Given the description of an element on the screen output the (x, y) to click on. 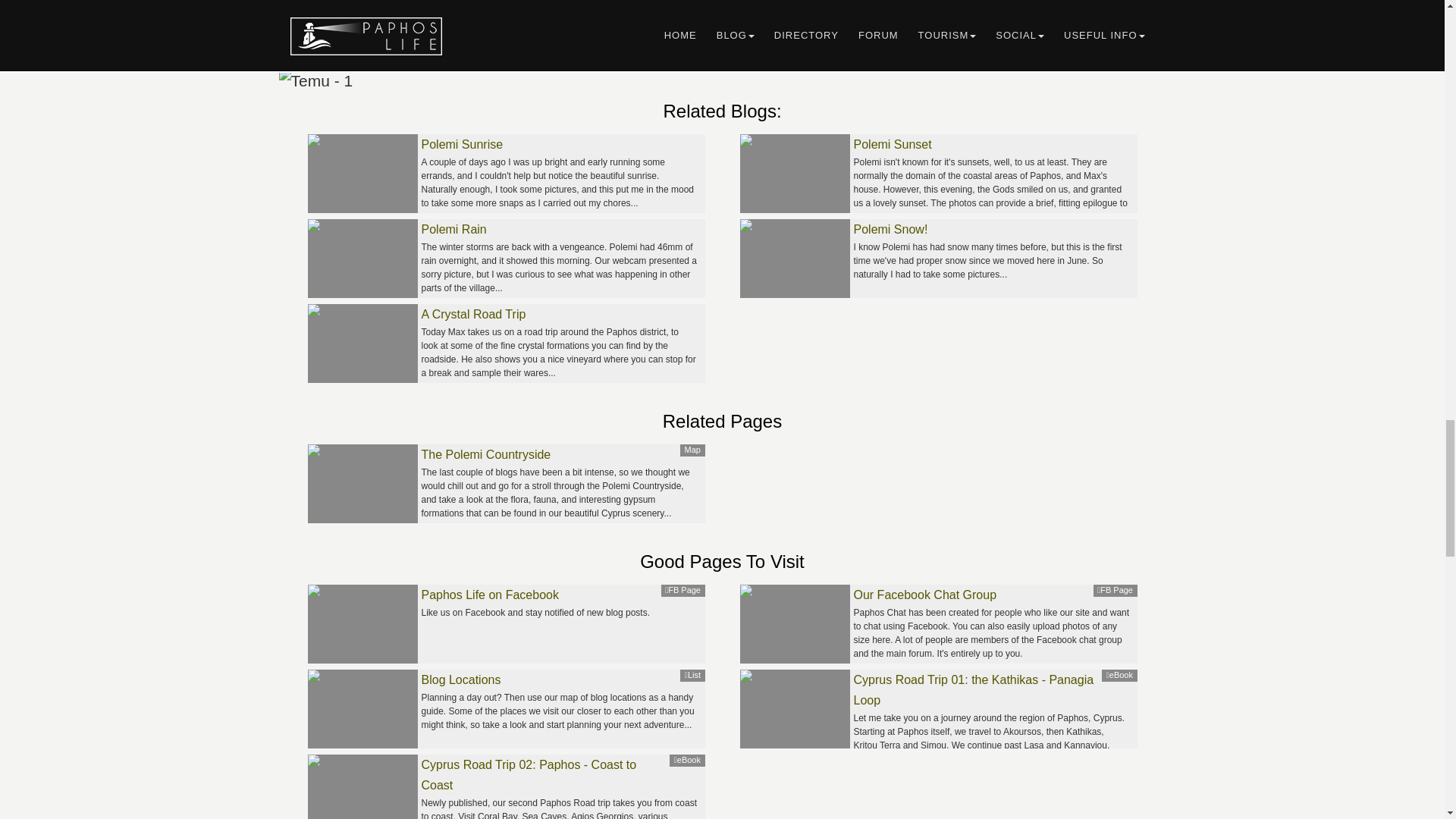
Buy us a coffee! (722, 68)
